Given the description of an element on the screen output the (x, y) to click on. 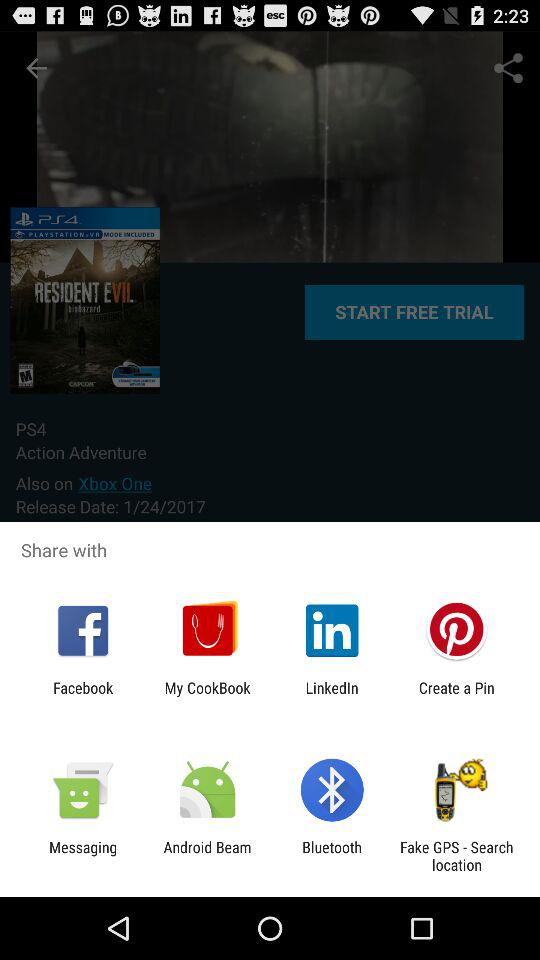
scroll to fake gps search icon (456, 856)
